Given the description of an element on the screen output the (x, y) to click on. 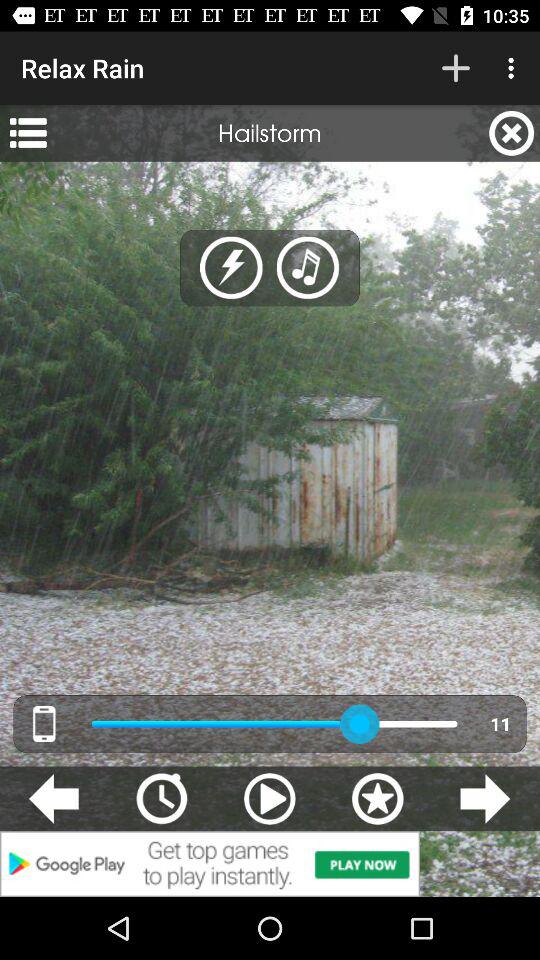
select item below the relax rain (28, 133)
